Given the description of an element on the screen output the (x, y) to click on. 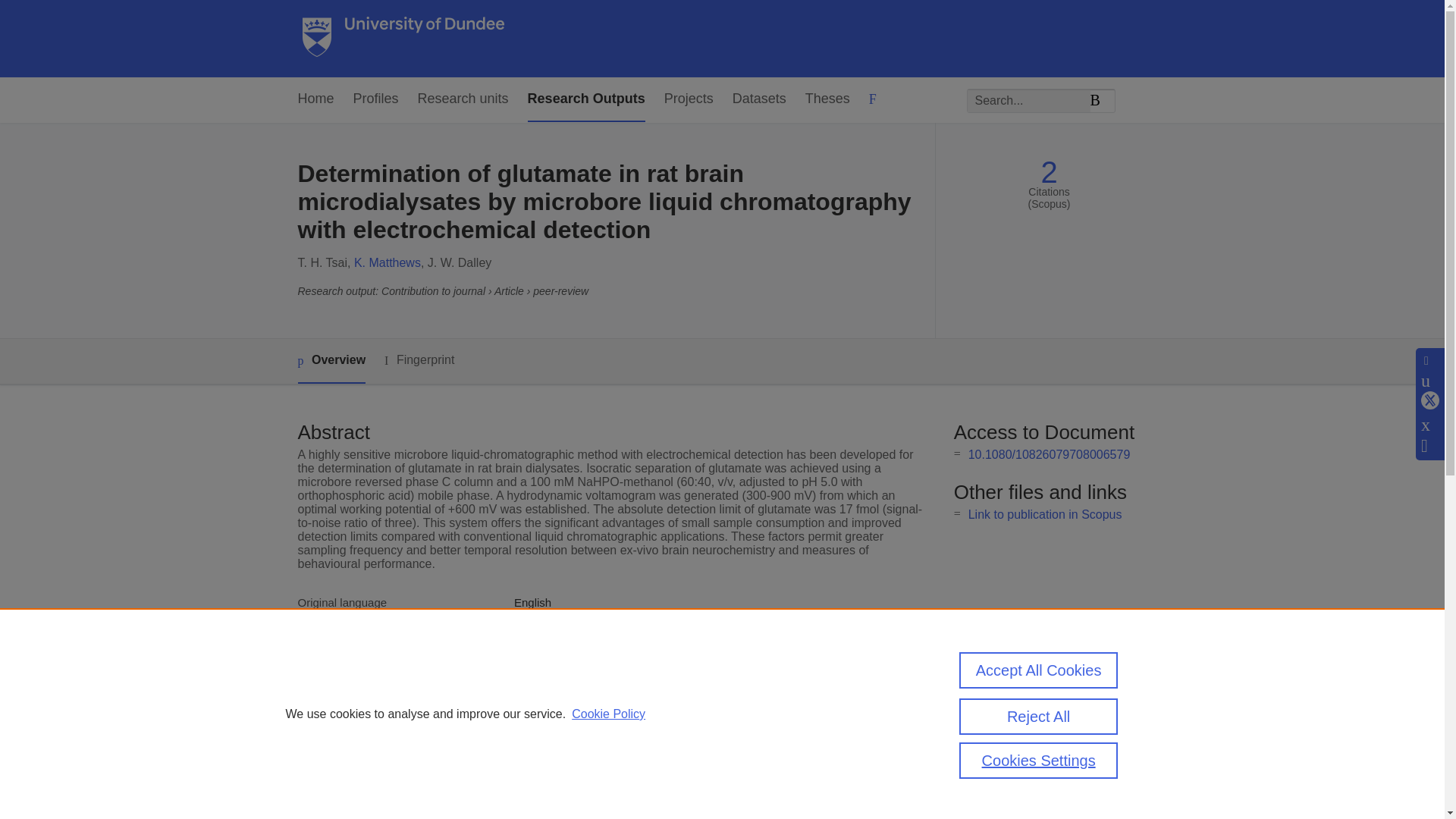
Link to publication in Scopus (1045, 513)
Theses (827, 99)
Research units (462, 99)
Profiles (375, 99)
Discovery - the University of Dundee Research Portal Home (404, 38)
K. Matthews (386, 262)
Fingerprint (419, 360)
Projects (688, 99)
Research Outputs (586, 99)
